Given the description of an element on the screen output the (x, y) to click on. 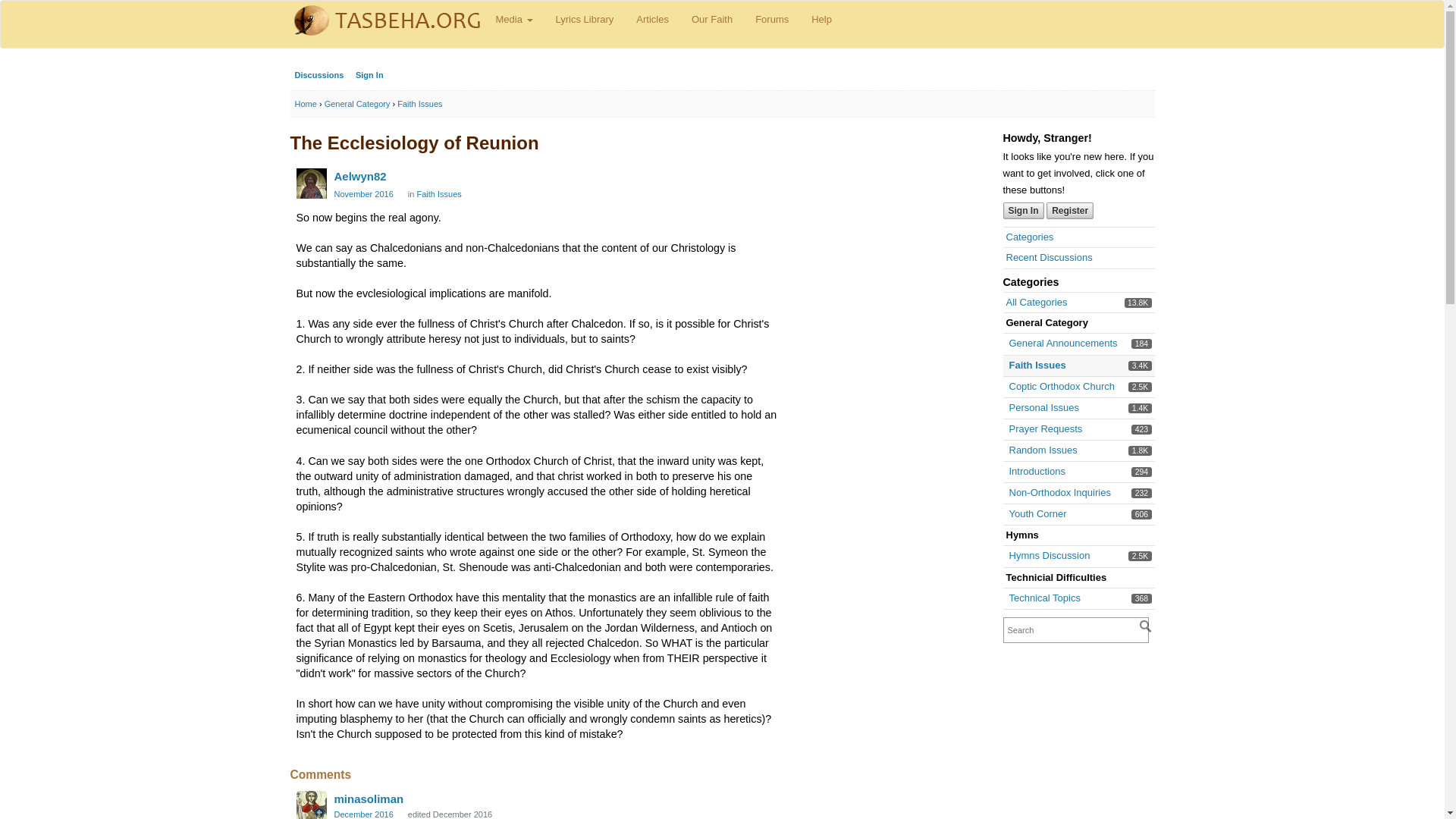
Articles (651, 19)
Sign In (369, 75)
December  1, 2016 12:16AM (363, 814)
Lyrics Library (1037, 513)
Edited by minasoliman on December  1, 2016 12:25AM. (585, 19)
General Category (449, 814)
Help (357, 103)
Recent Discussions (821, 19)
Media (1049, 256)
368 discussions (513, 19)
Register (1059, 491)
Aelwyn82 (1141, 598)
